Given the description of an element on the screen output the (x, y) to click on. 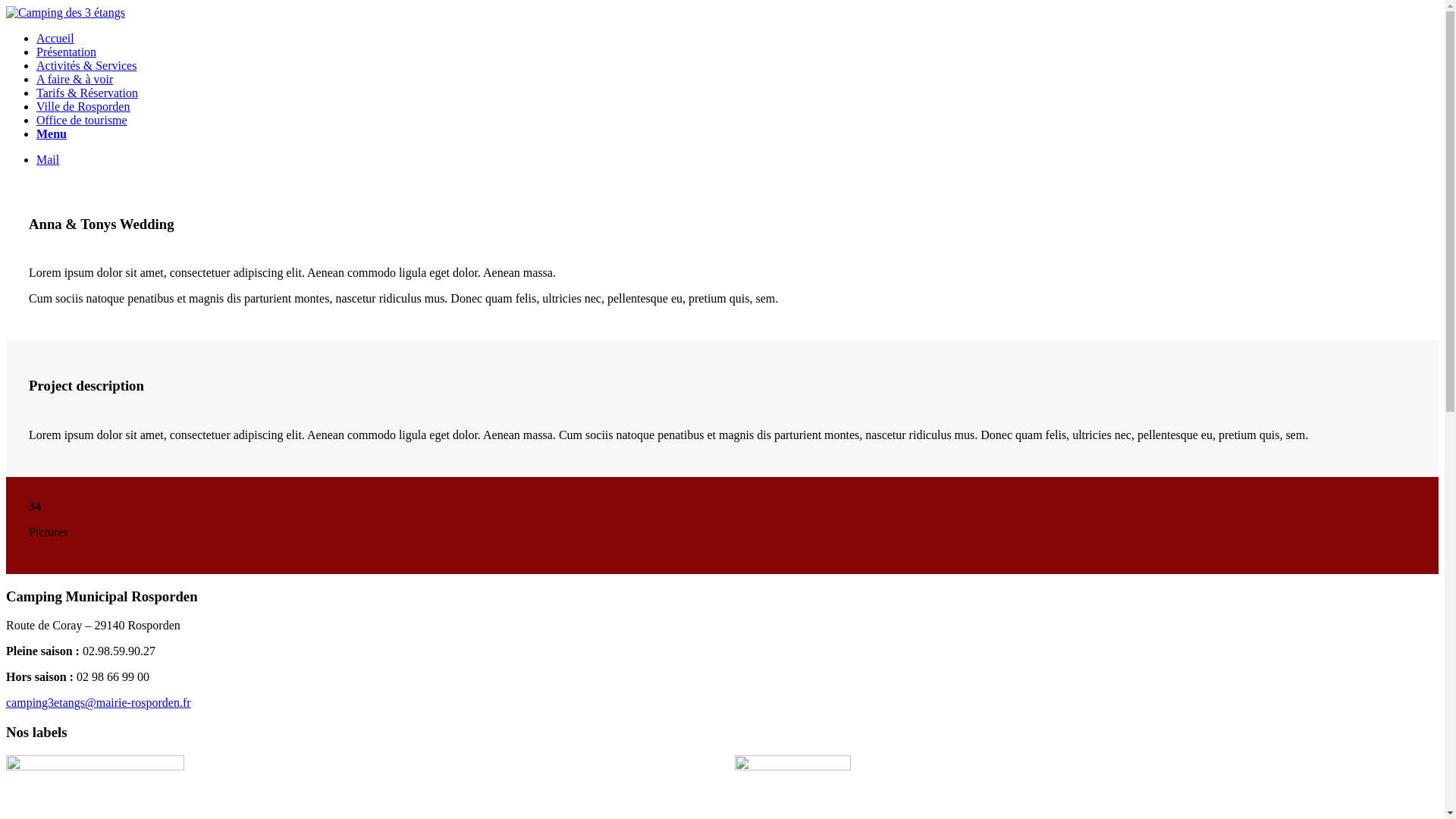
Accueil Element type: text (55, 37)
camping3etangs@mairie-rosporden.fr Element type: text (98, 702)
Office de tourisme Element type: text (81, 119)
Mail Element type: text (47, 159)
Ville de Rosporden Element type: text (82, 106)
Menu Element type: text (51, 133)
